Given the description of an element on the screen output the (x, y) to click on. 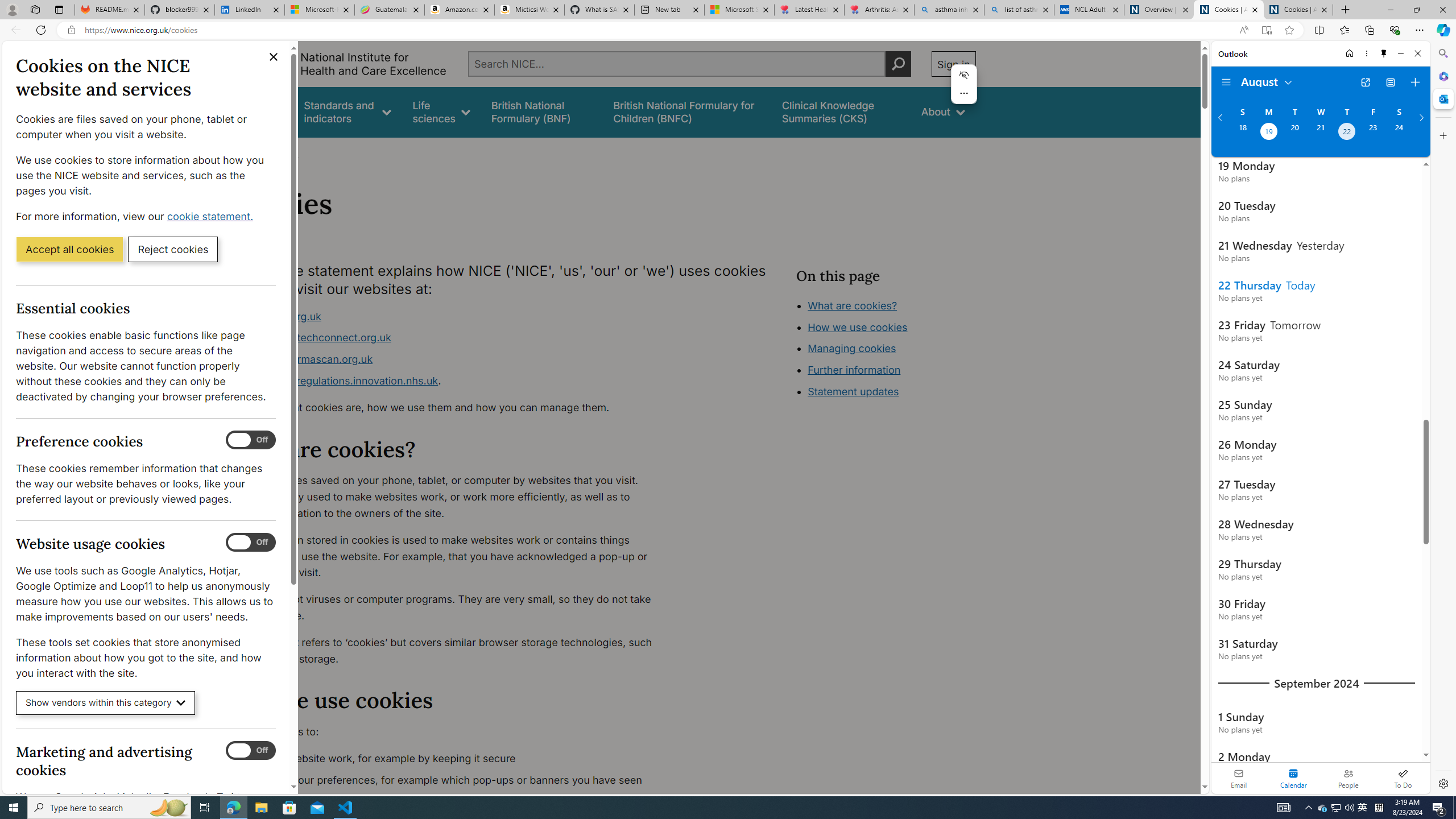
Preference cookies (250, 439)
Mini menu on text selection (964, 83)
Hide menu (964, 75)
People (1347, 777)
Perform search (898, 63)
Create event (1414, 82)
www.healthtechconnect.org.uk (314, 337)
www.digitalregulations.innovation.nhs.uk. (452, 380)
